Given the description of an element on the screen output the (x, y) to click on. 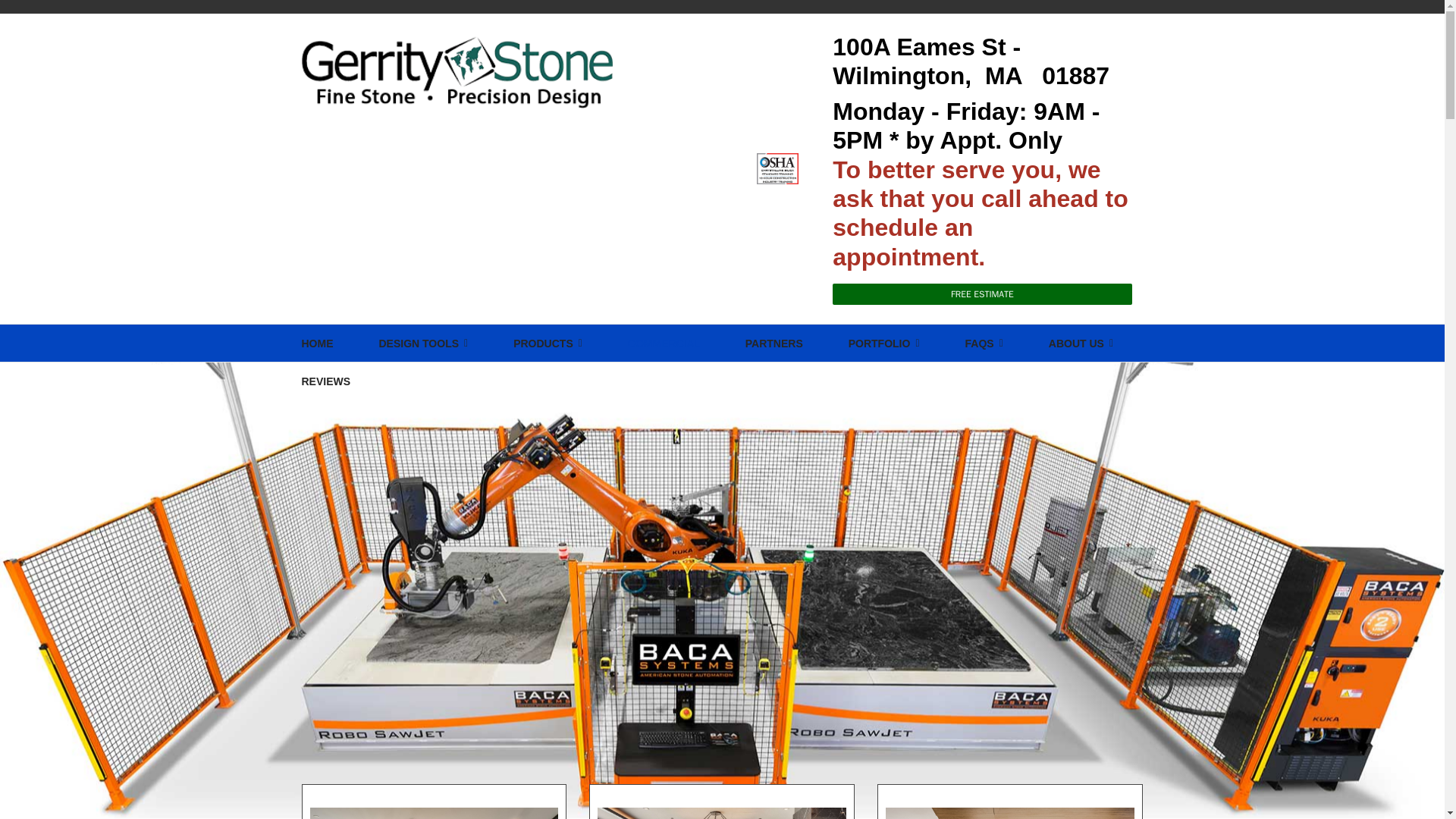
PRODUCTS (548, 343)
PORTFOLIO (884, 343)
PARTNERS (773, 343)
ABOUT US (1080, 343)
FREE ESTIMATE (981, 293)
HOME (316, 343)
DESIGN TOOLS (422, 343)
FAQS (983, 343)
COMMERCIAL (663, 343)
